Given the description of an element on the screen output the (x, y) to click on. 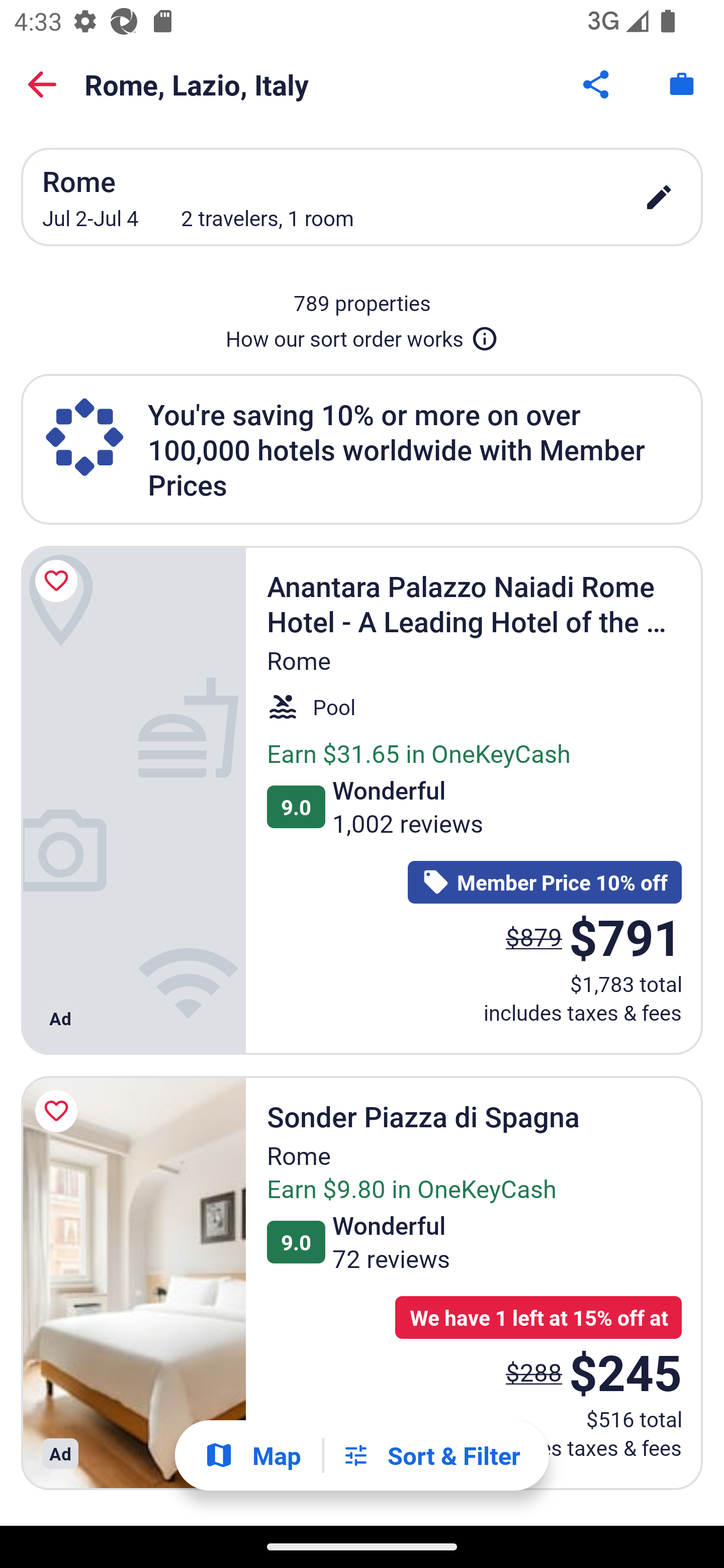
Back (42, 84)
Share Button (597, 84)
Trips. Button (681, 84)
Rome Jul 2-Jul 4 2 travelers, 1 room edit (361, 196)
How our sort order works (361, 334)
$879 The price was $879 (533, 936)
Save Sonder Piazza di Spagna to a trip (59, 1111)
Sonder Piazza di Spagna (133, 1282)
$288 The price was $288 (533, 1371)
Filters Sort & Filter Filters Button (430, 1455)
Show map Map Show map Button (252, 1455)
